Given the description of an element on the screen output the (x, y) to click on. 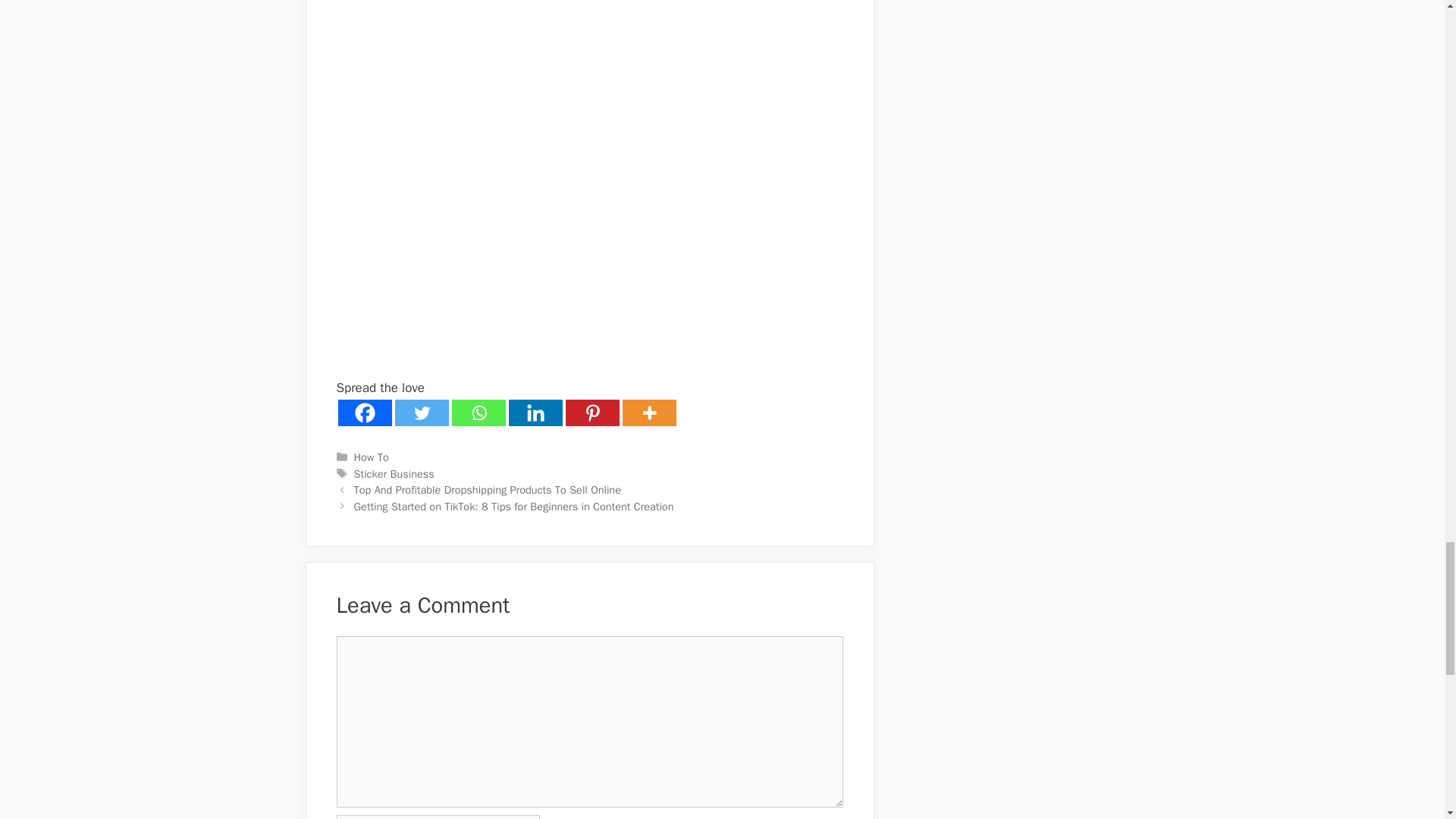
Top And Profitable Dropshipping Products To Sell Online (487, 489)
Sticker Business (393, 473)
How To (370, 457)
